Given the description of an element on the screen output the (x, y) to click on. 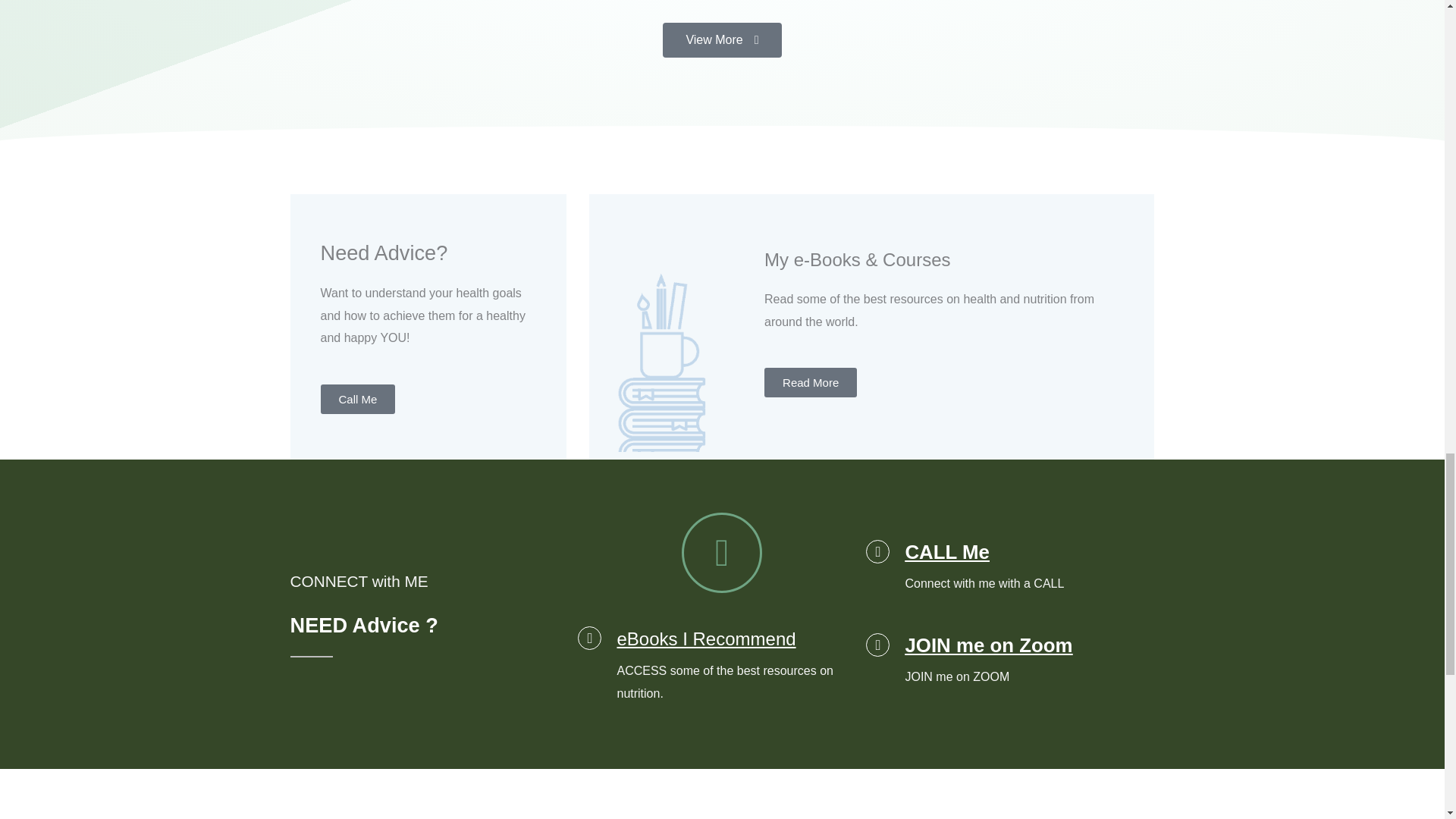
JOIN me on Zoom (987, 645)
Read More (810, 382)
Call Me (357, 398)
CALL Me (946, 551)
View More (721, 39)
